Given the description of an element on the screen output the (x, y) to click on. 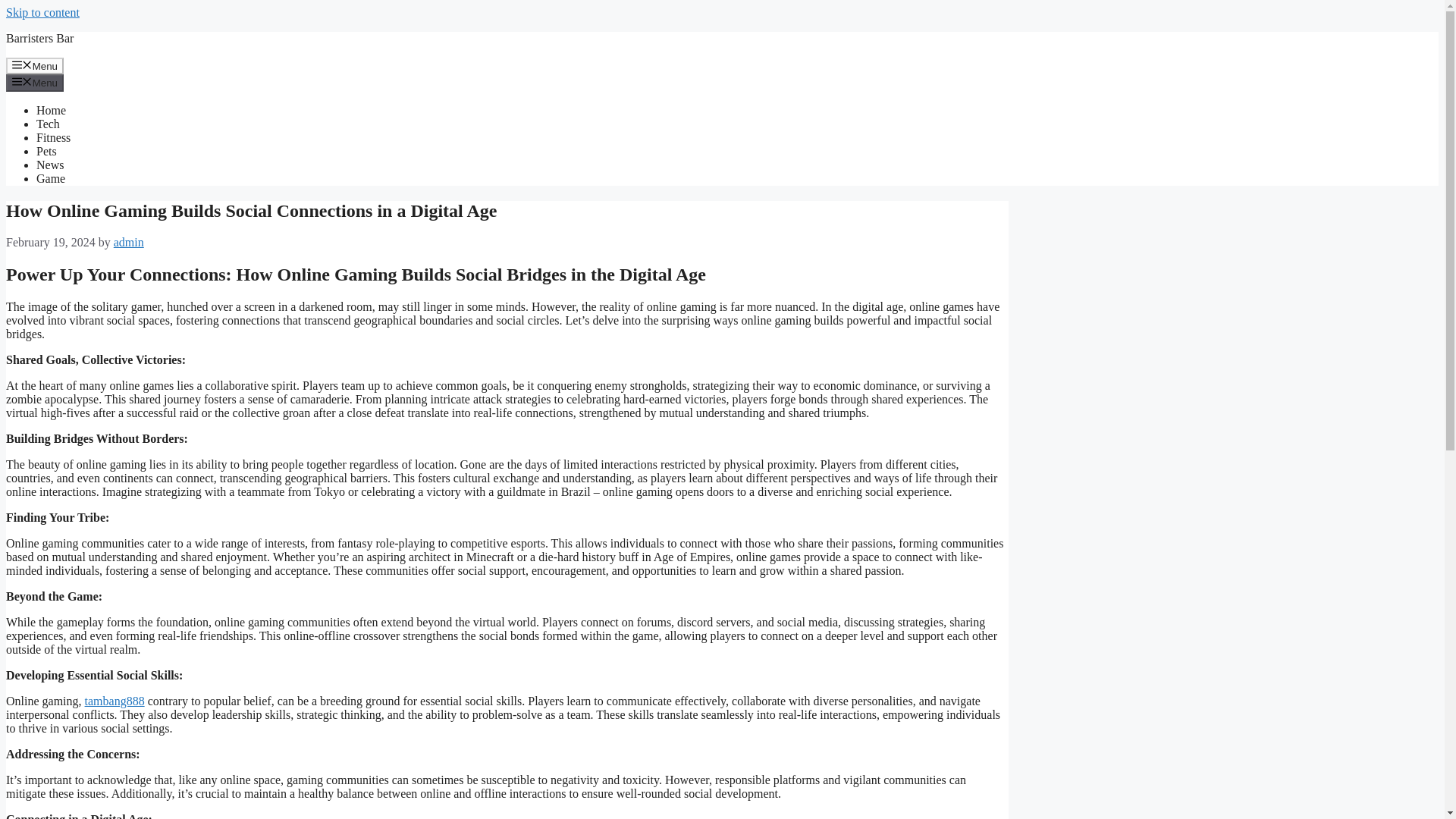
Tech (47, 123)
Menu (34, 65)
View all posts by admin (128, 241)
Game (50, 178)
admin (128, 241)
News (50, 164)
Skip to content (42, 11)
Fitness (52, 137)
Barristers Bar (39, 38)
Skip to content (42, 11)
Menu (34, 82)
Home (50, 110)
Pets (46, 151)
tambang888 (114, 700)
